Given the description of an element on the screen output the (x, y) to click on. 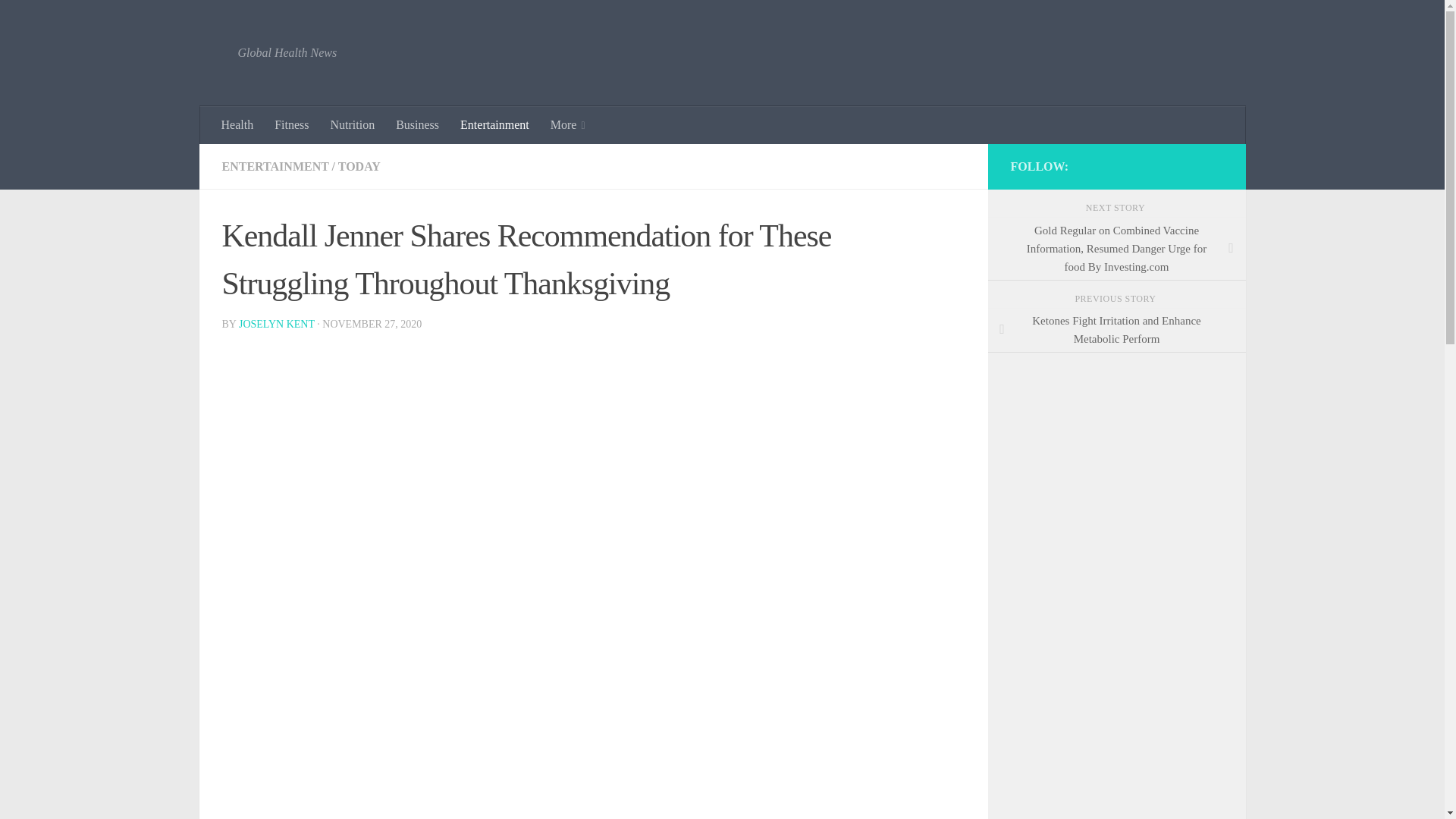
Skip to content (59, 20)
Ketones Fight Irritation and Enhance Metabolic Perform (1115, 329)
More (567, 125)
Business (417, 125)
Nutrition (352, 125)
Fitness (290, 125)
JOSELYN KENT (276, 324)
ENTERTAINMENT (275, 165)
TODAY (358, 165)
